Given the description of an element on the screen output the (x, y) to click on. 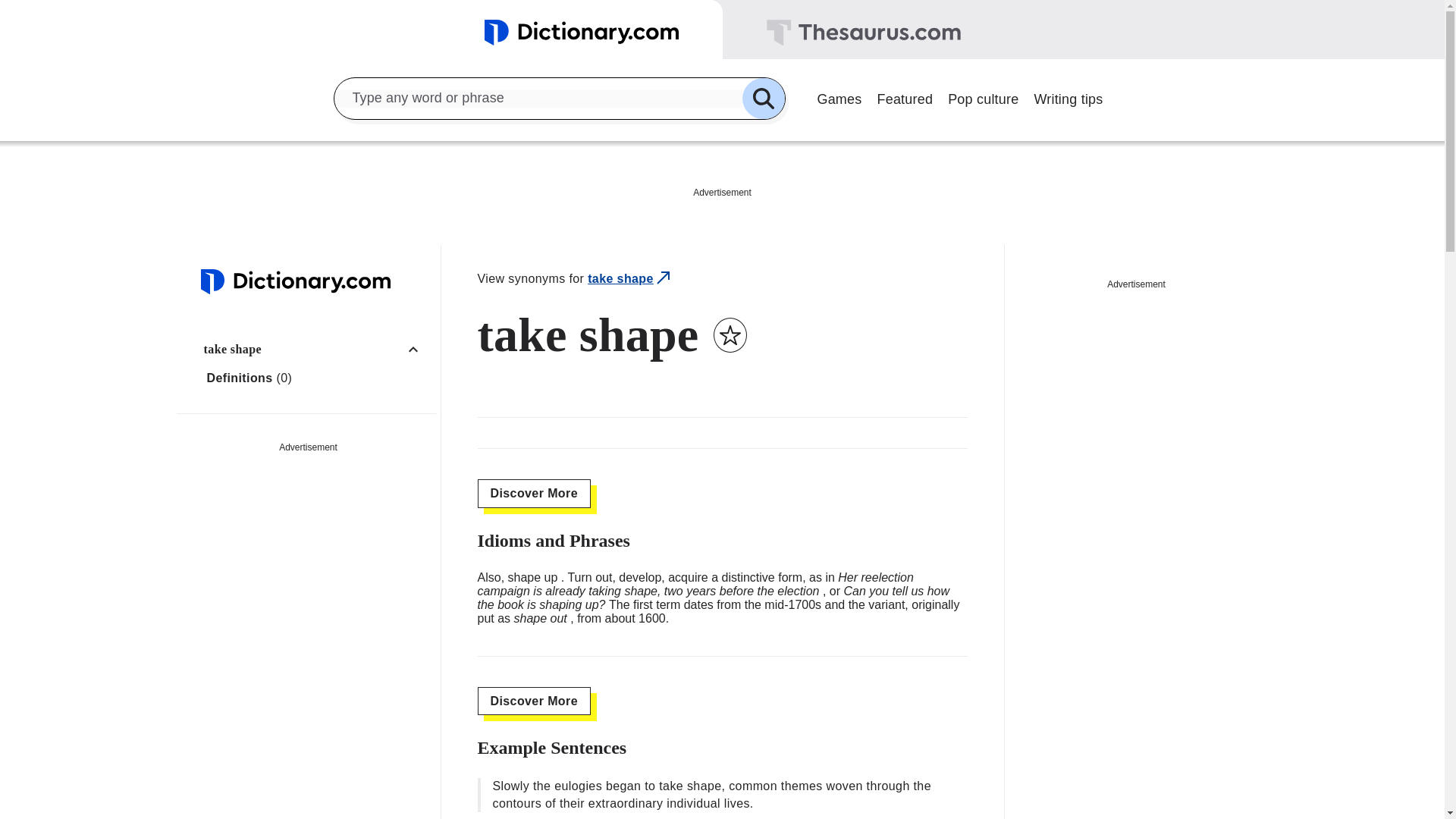
Featured (904, 97)
Pop culture (983, 97)
Writing tips (1067, 97)
take shape (630, 279)
Games (839, 97)
take shape (316, 349)
